Given the description of an element on the screen output the (x, y) to click on. 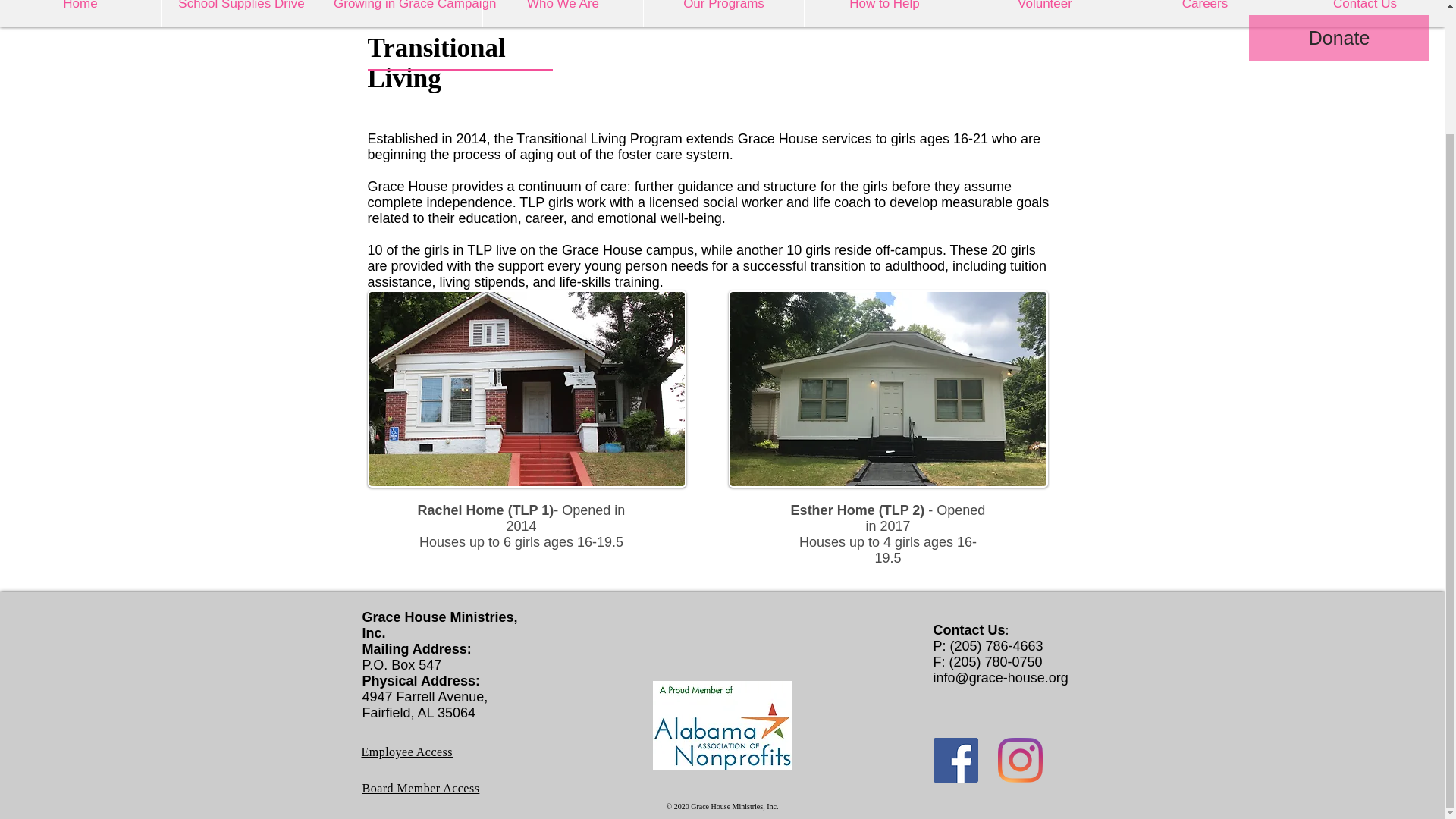
Home (80, 13)
Board Member Access (421, 788)
Careers (1204, 13)
Growing in Grace Campaign (401, 13)
School Supplies Drive (240, 13)
Employee Access (406, 751)
